Given the description of an element on the screen output the (x, y) to click on. 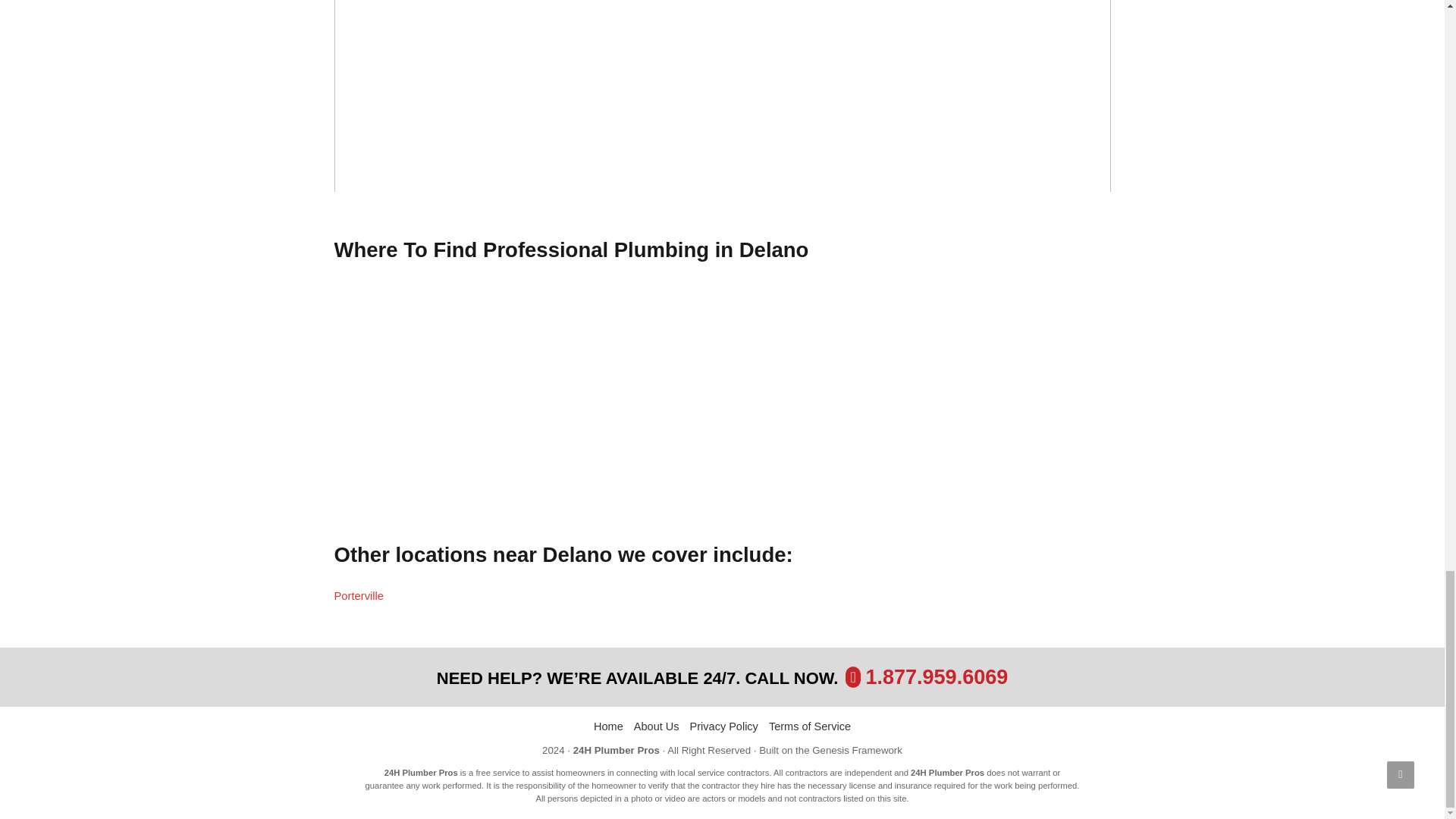
Terms of Service (809, 727)
Porterville (358, 595)
1.877.959.6069 (937, 676)
About Us (656, 727)
Emergency Plumber in Porterville, CA (358, 595)
Home (608, 727)
Privacy Policy (724, 727)
24H Plumber Pros (616, 749)
